Given the description of an element on the screen output the (x, y) to click on. 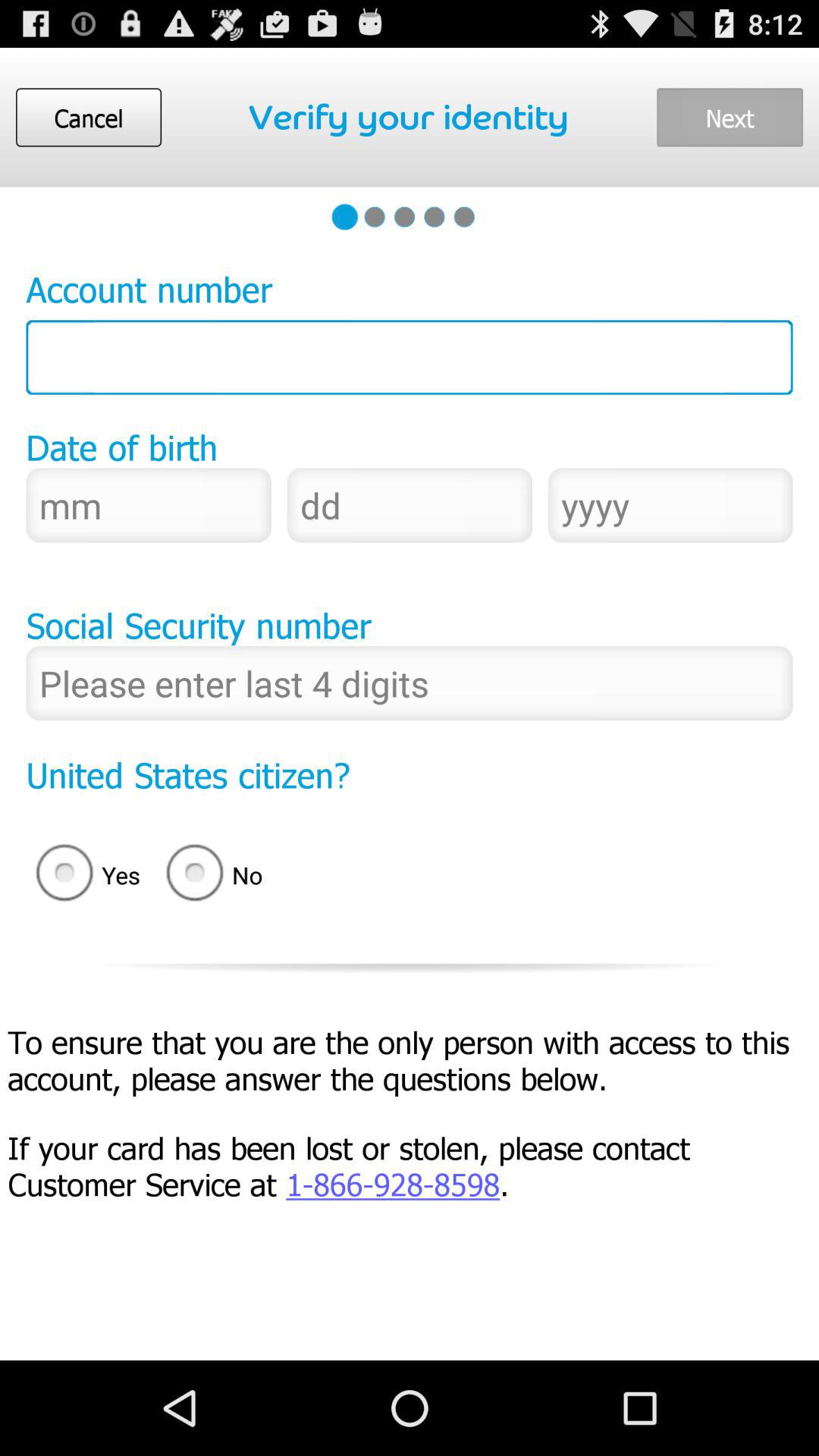
open the icon to the right of verify your identity icon (729, 117)
